Given the description of an element on the screen output the (x, y) to click on. 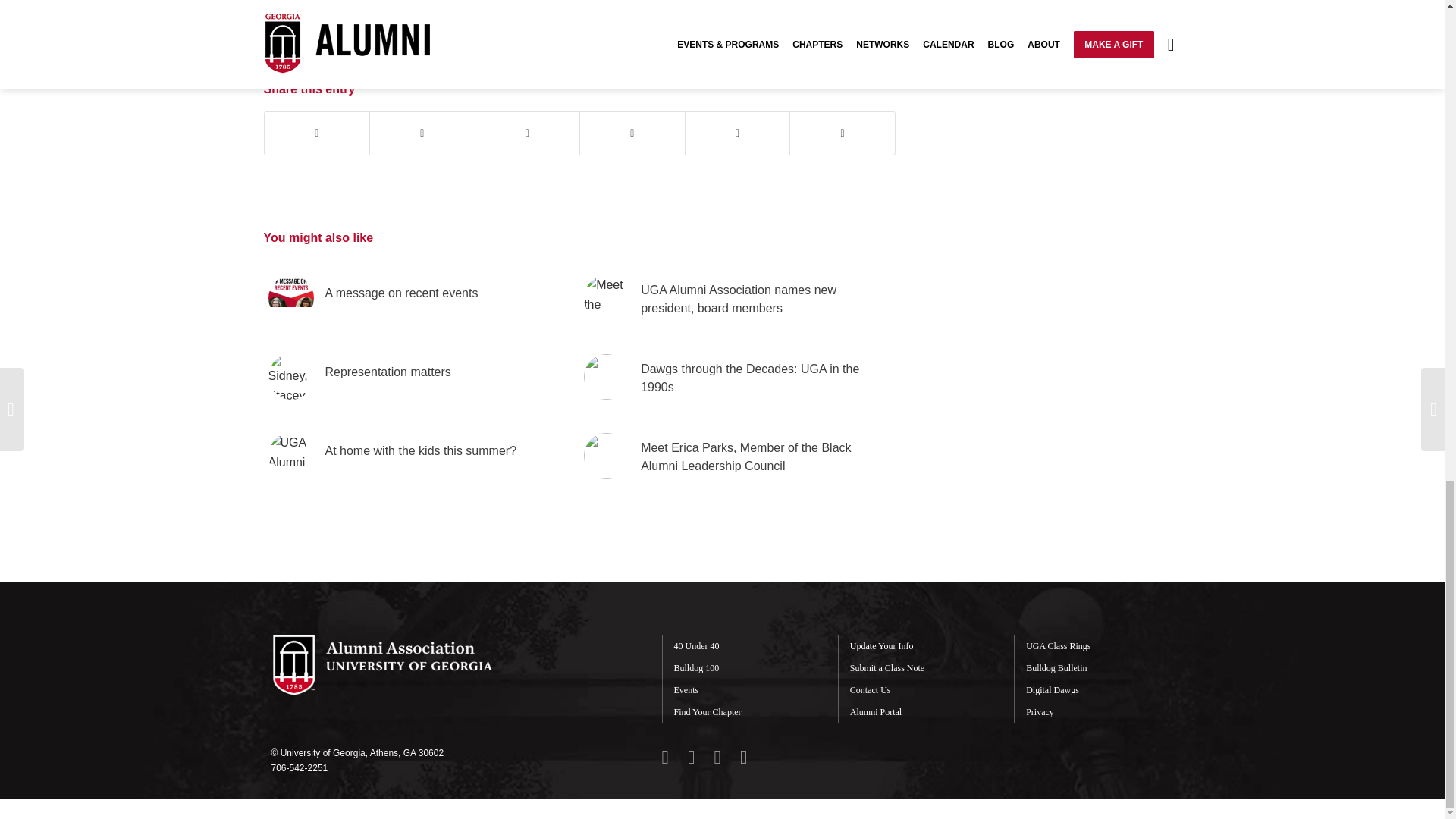
A message on recent events (420, 293)
